Given the description of an element on the screen output the (x, y) to click on. 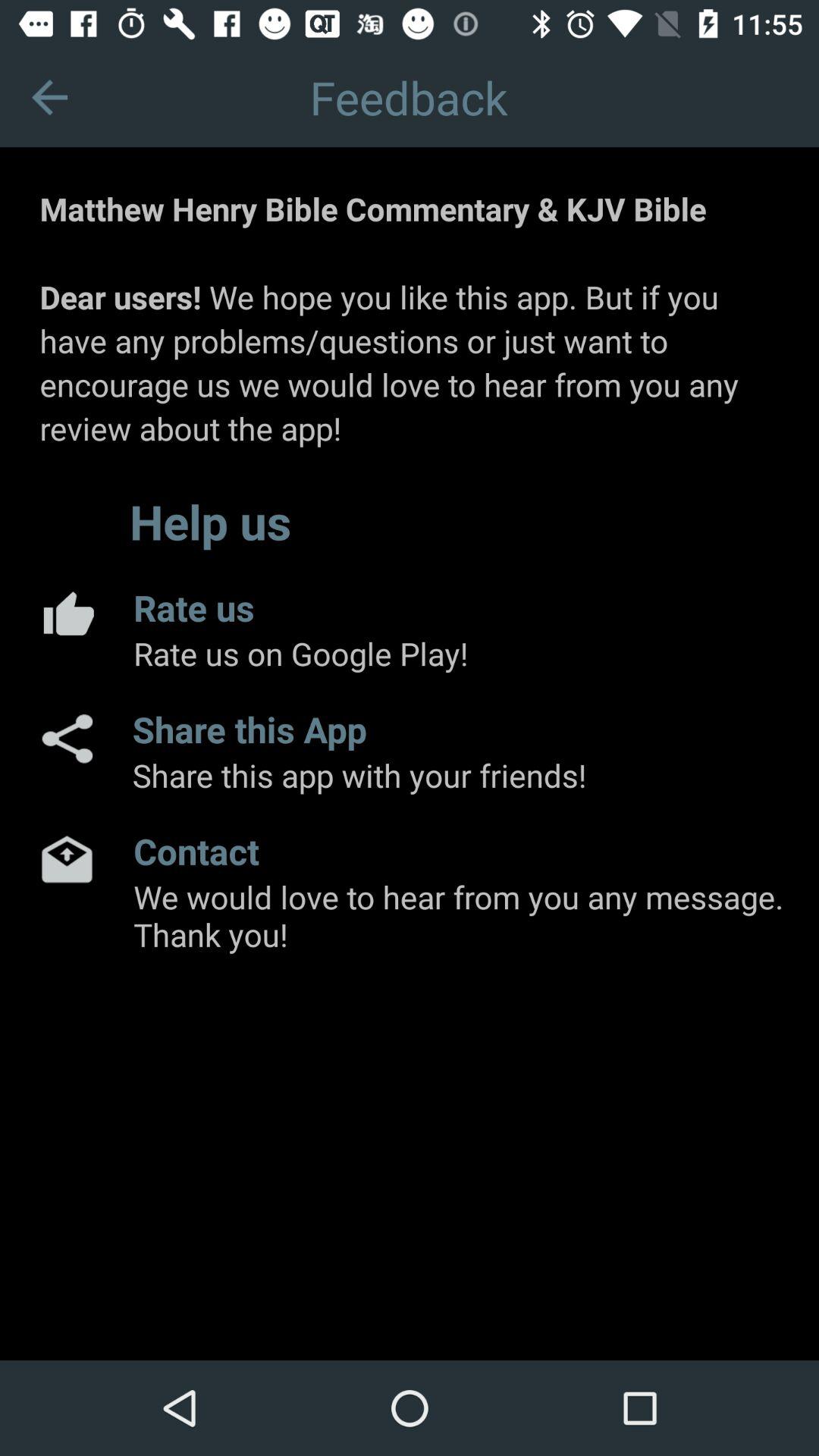
contact us (66, 858)
